Given the description of an element on the screen output the (x, y) to click on. 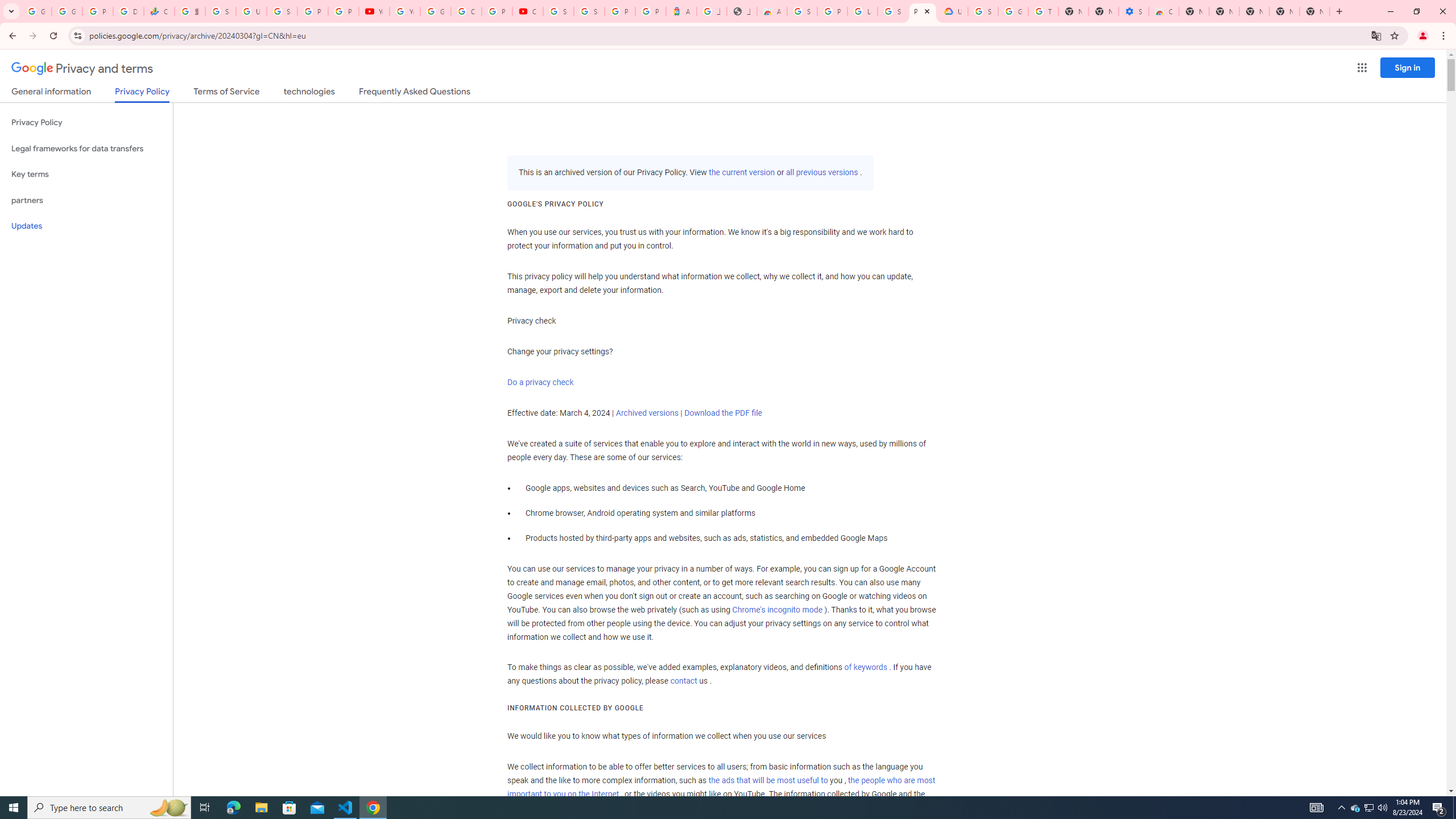
YouTube (373, 11)
Atour Hotel - Google hotels (681, 11)
Do a privacy check (539, 381)
General information (51, 93)
Sign in - Google Accounts (982, 11)
Key terms (86, 174)
New Tab (1193, 11)
partners (86, 199)
